Given the description of an element on the screen output the (x, y) to click on. 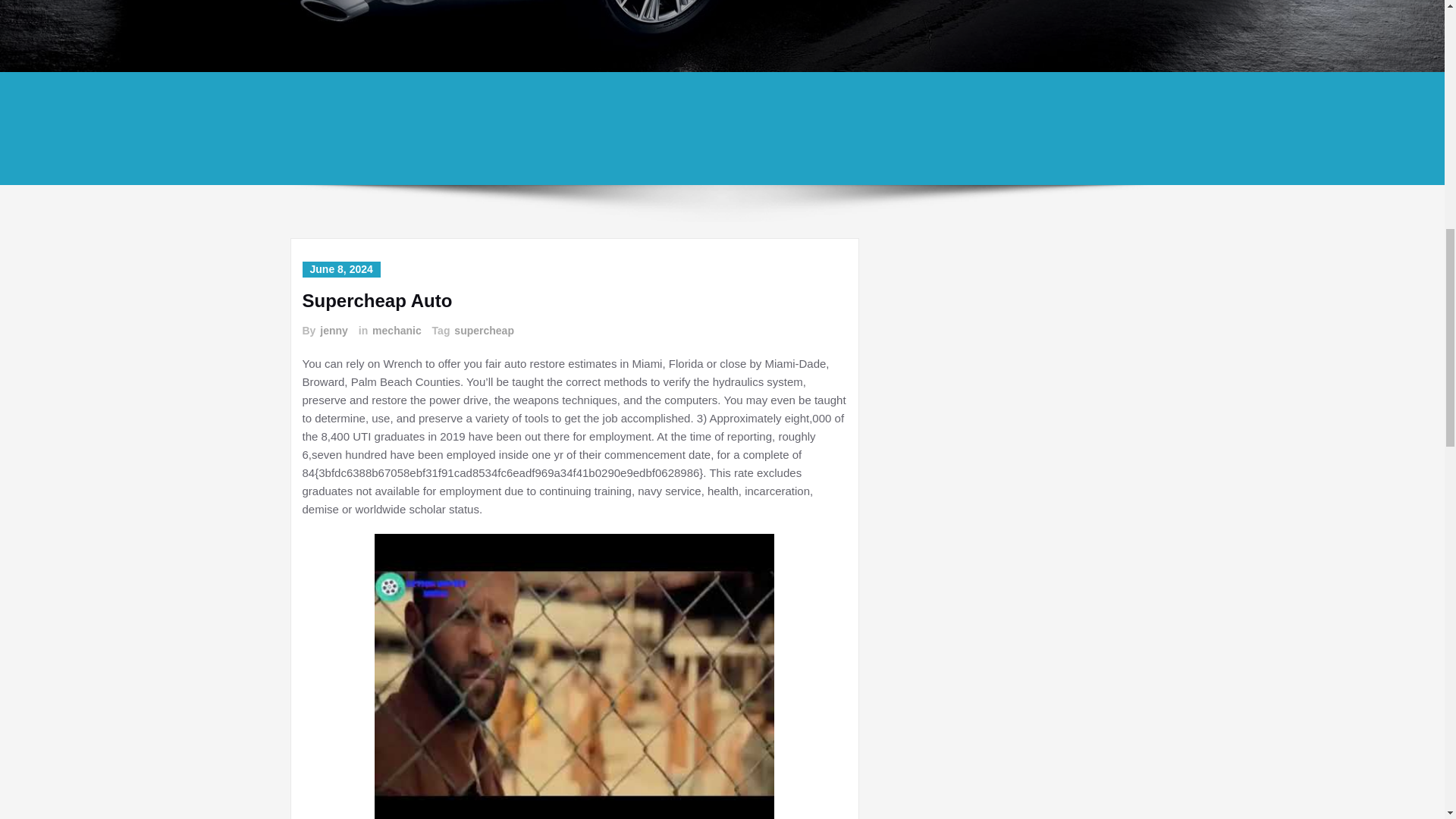
mechanic (396, 330)
jenny (332, 330)
Supercheap Auto (376, 300)
supercheap (482, 330)
June 8, 2024 (340, 269)
